Given the description of an element on the screen output the (x, y) to click on. 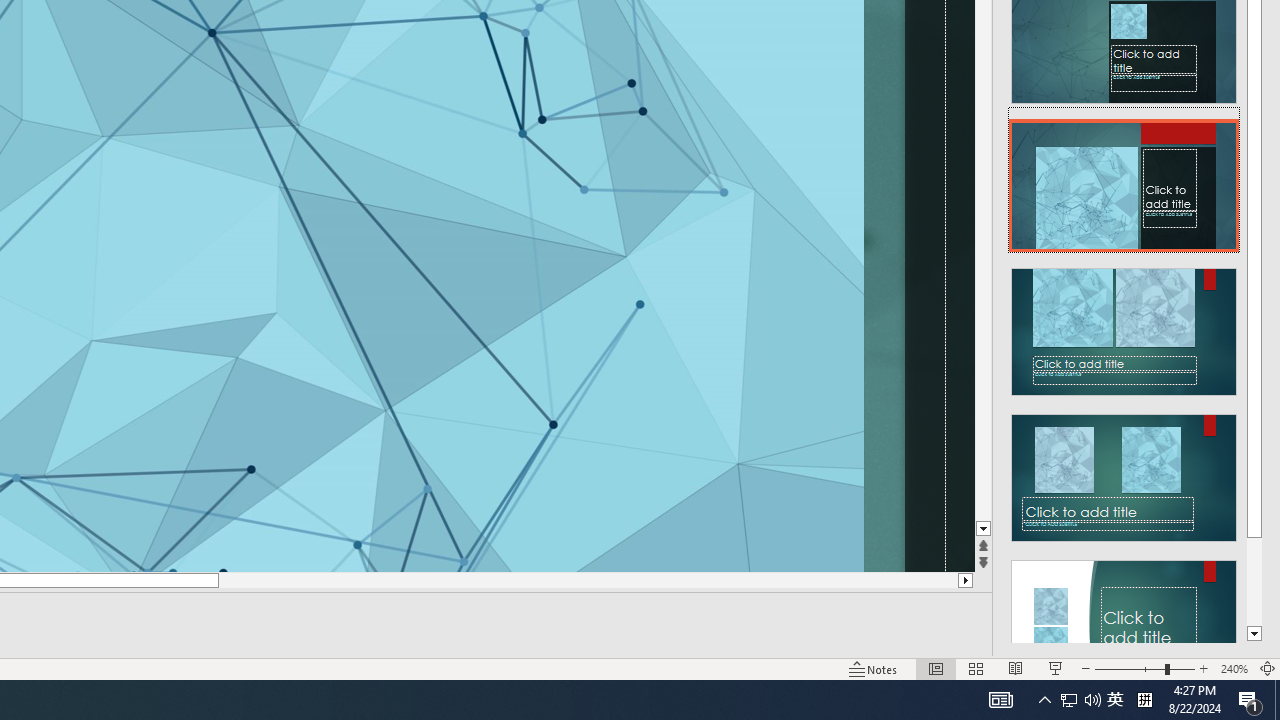
Zoom 240% (1234, 668)
